Given the description of an element on the screen output the (x, y) to click on. 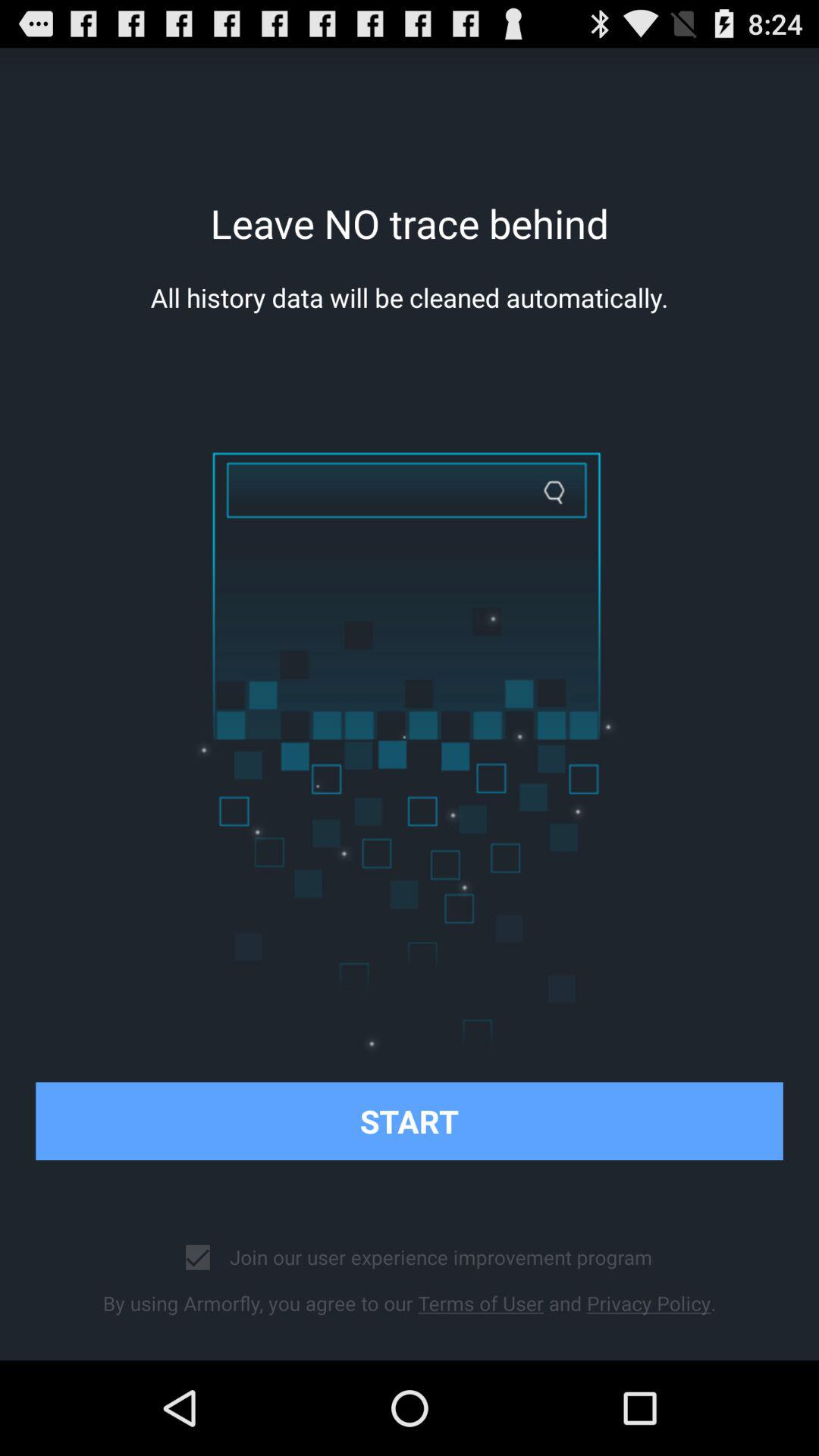
select the app below join our user item (409, 1302)
